Given the description of an element on the screen output the (x, y) to click on. 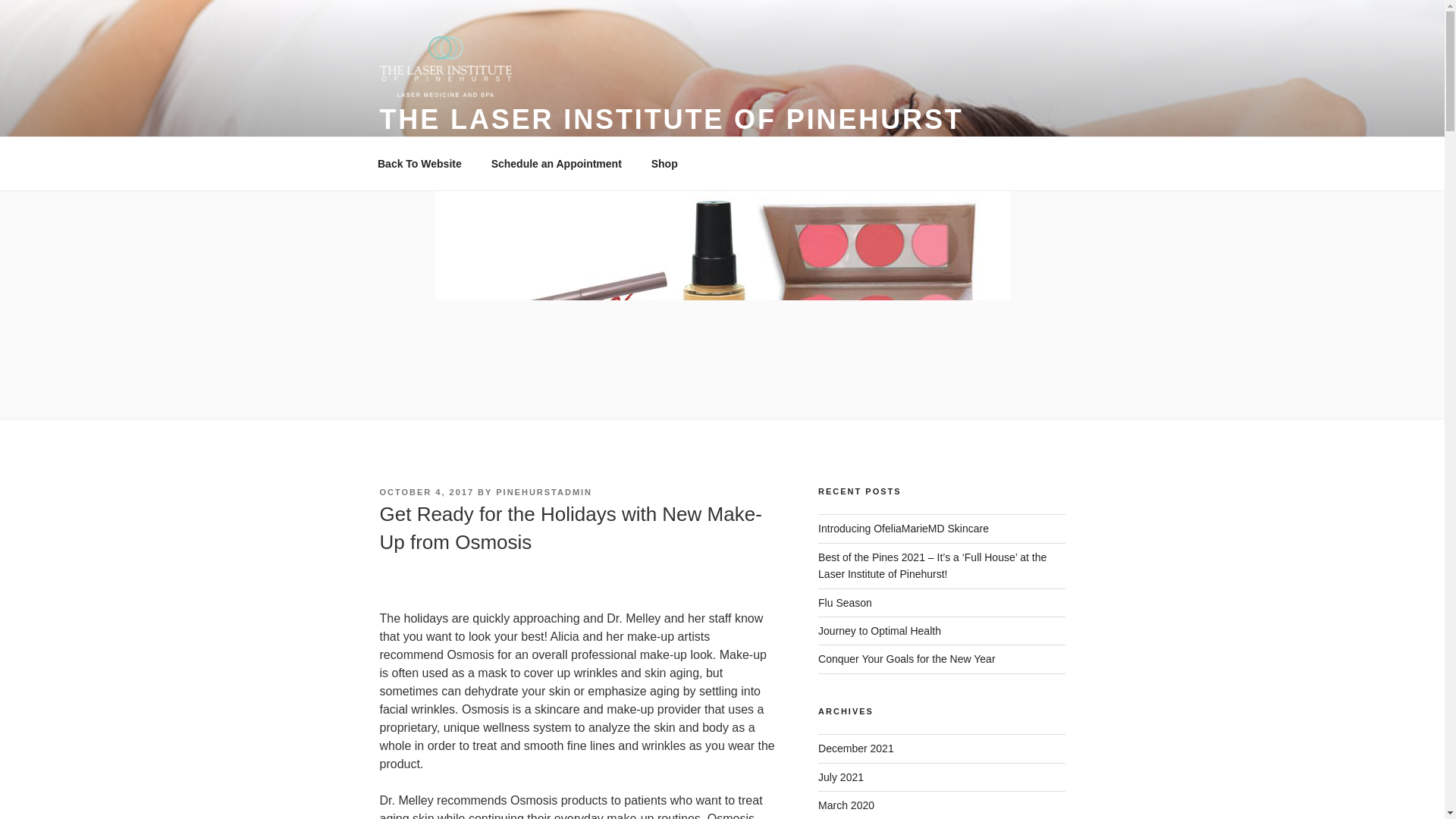
Introducing OfeliaMarieMD Skincare (903, 528)
December 2021 (855, 748)
Back To Website (419, 163)
Conquer Your Goals for the New Year (906, 658)
Shop (663, 163)
Journey to Optimal Health (879, 630)
Flu Season (845, 603)
PINEHURSTADMIN (544, 491)
March 2020 (846, 805)
Schedule an Appointment (555, 163)
